Given the description of an element on the screen output the (x, y) to click on. 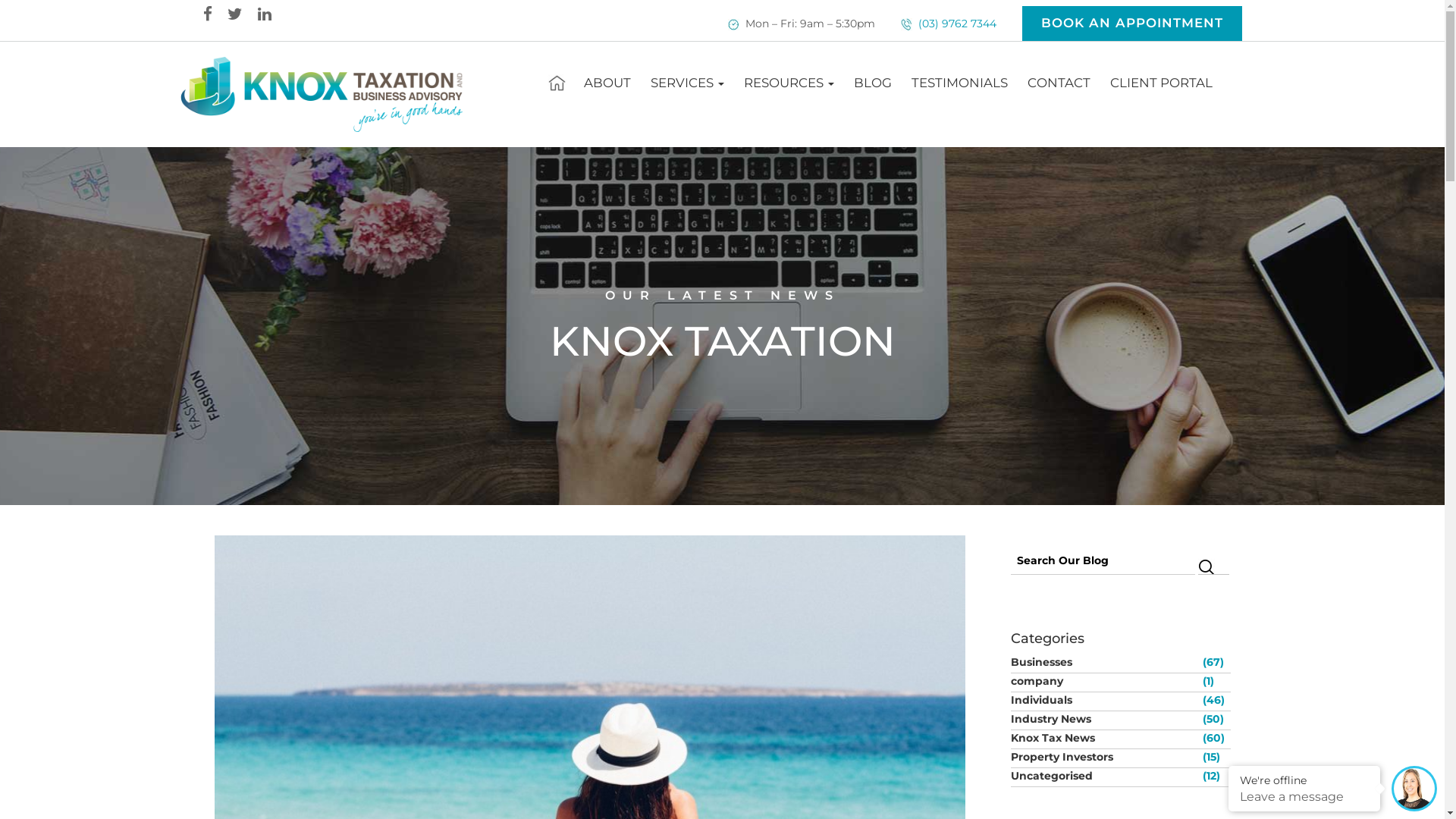
Individuals Element type: text (1104, 699)
Knox Tax News Element type: text (1104, 737)
Businesses Element type: text (1104, 661)
SERVICES Element type: text (687, 82)
CLIENT PORTAL Element type: text (1161, 82)
BLOG Element type: text (872, 82)
CONTACT Element type: text (1058, 82)
Uncategorised Element type: text (1104, 775)
ABOUT Element type: text (607, 82)
Property Investors Element type: text (1104, 756)
RESOURCES Element type: text (789, 82)
TESTIMONIALS Element type: text (959, 82)
 (03) 9762 7344 Element type: text (954, 23)
company Element type: text (1104, 680)
BOOK AN APPOINTMENT Element type: text (1132, 23)
Industry News Element type: text (1104, 718)
